Given the description of an element on the screen output the (x, y) to click on. 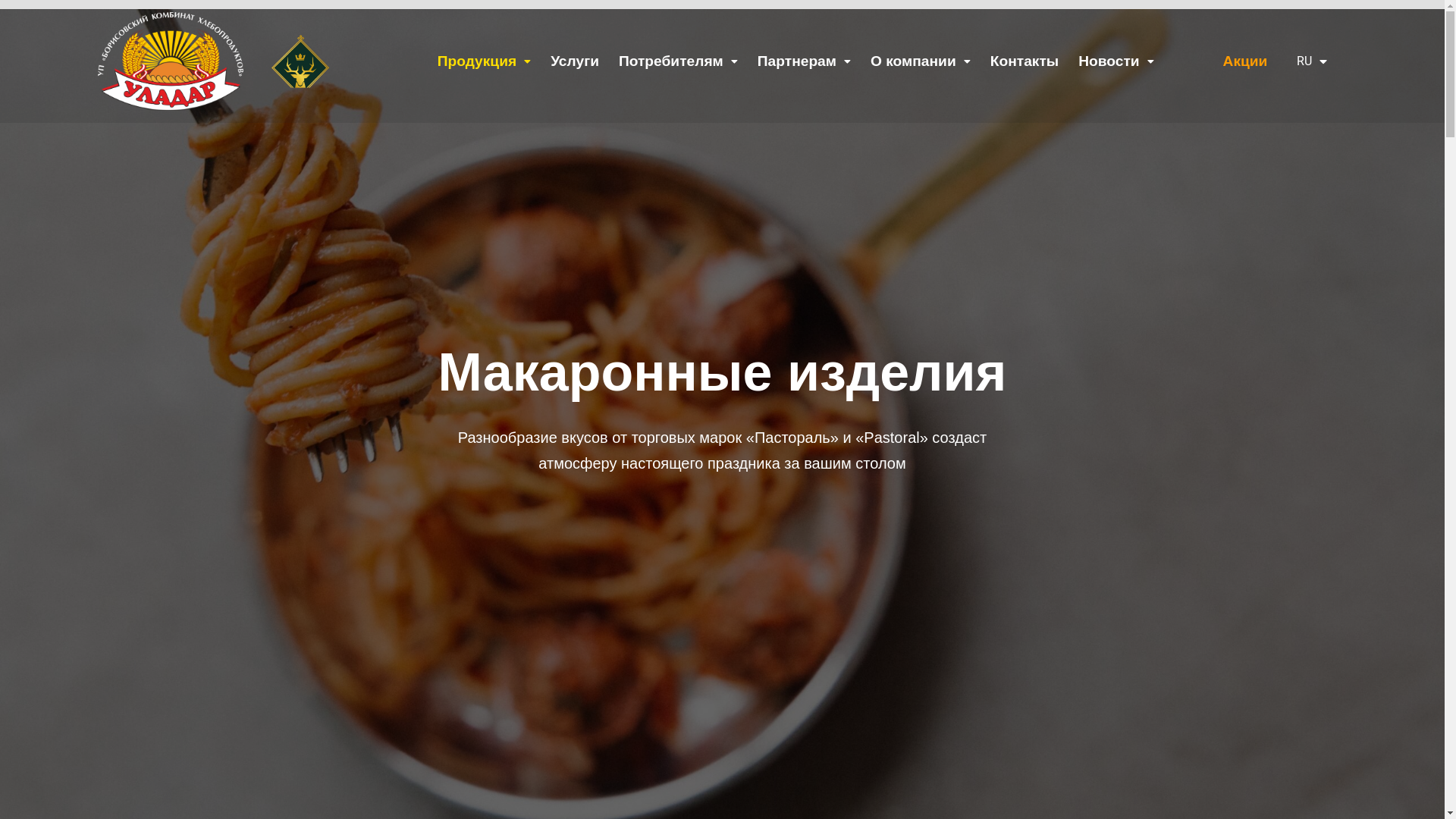
RU Element type: text (1308, 60)
